Given the description of an element on the screen output the (x, y) to click on. 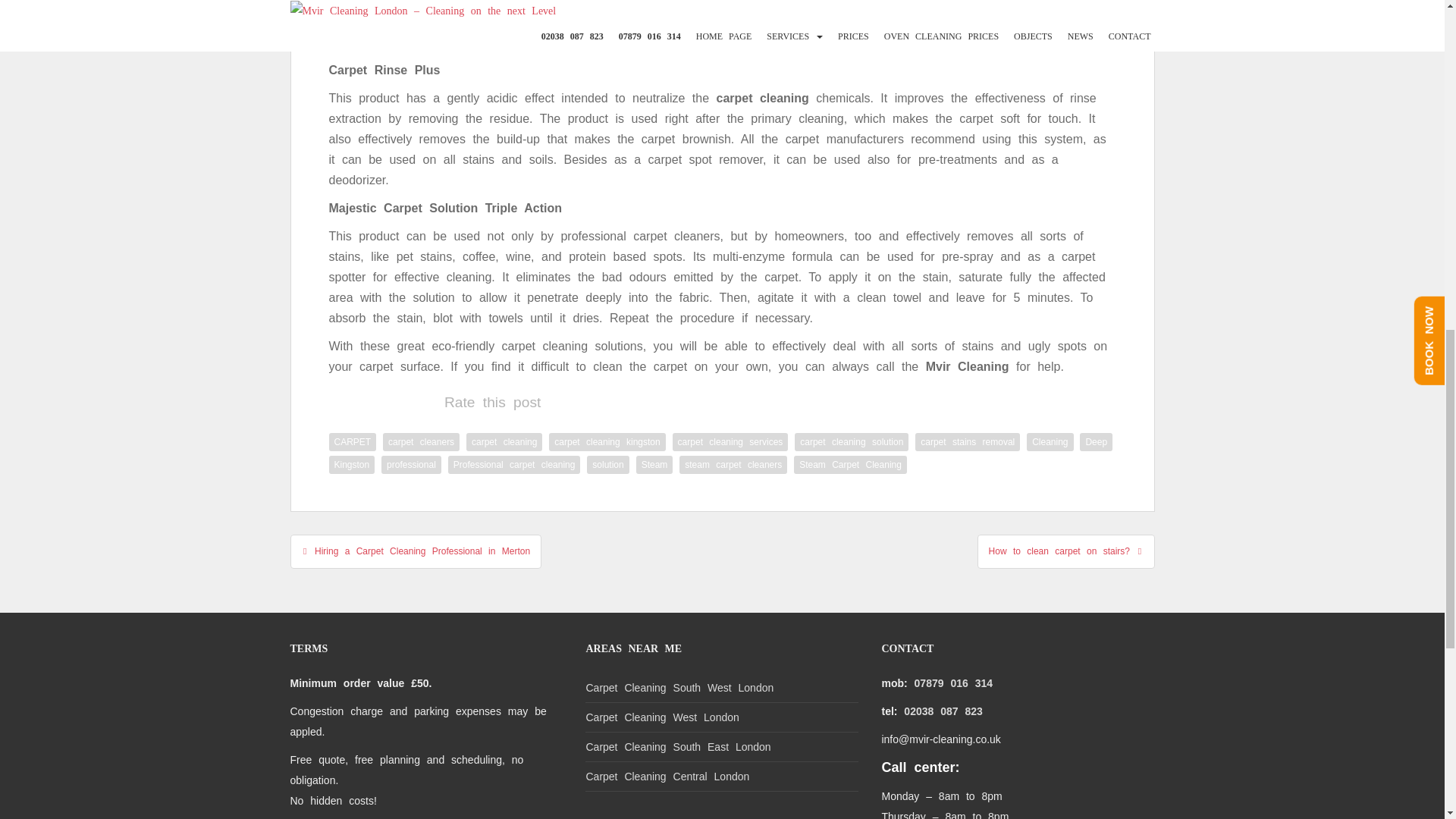
carpet cleaning services (730, 442)
carpet cleaning kingston (606, 442)
steam carpet cleaners (733, 464)
Hiring a Carpet Cleaning Professional in Merton (415, 551)
Professional carpet cleaning (514, 464)
How to clean carpet on stairs? (1065, 551)
carpet stains removal (967, 442)
Deep (1096, 442)
solution (607, 464)
professional (411, 464)
